Given the description of an element on the screen output the (x, y) to click on. 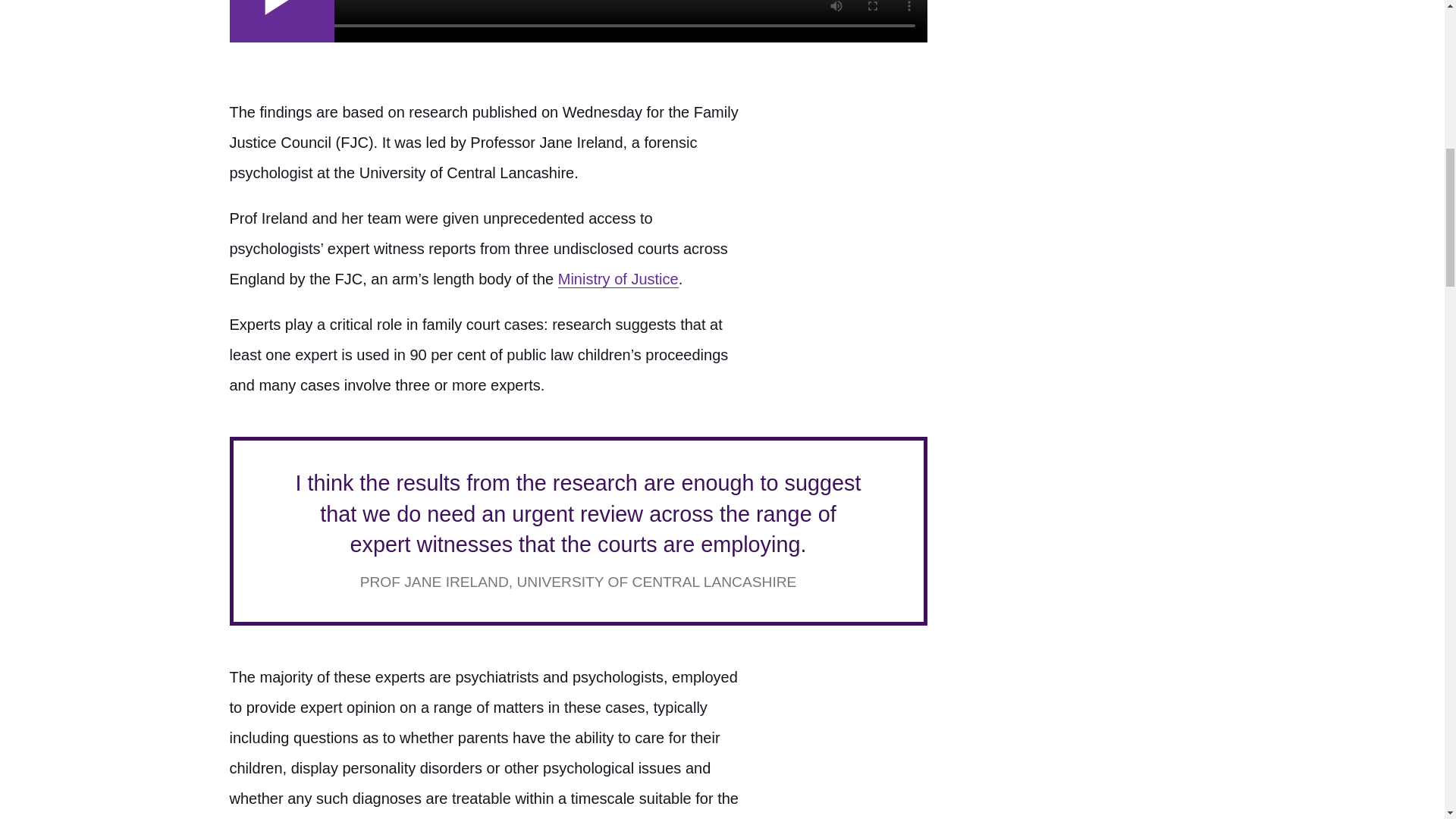
Ministry of Justice (617, 279)
Play Video (280, 21)
Play Video (280, 21)
